Given the description of an element on the screen output the (x, y) to click on. 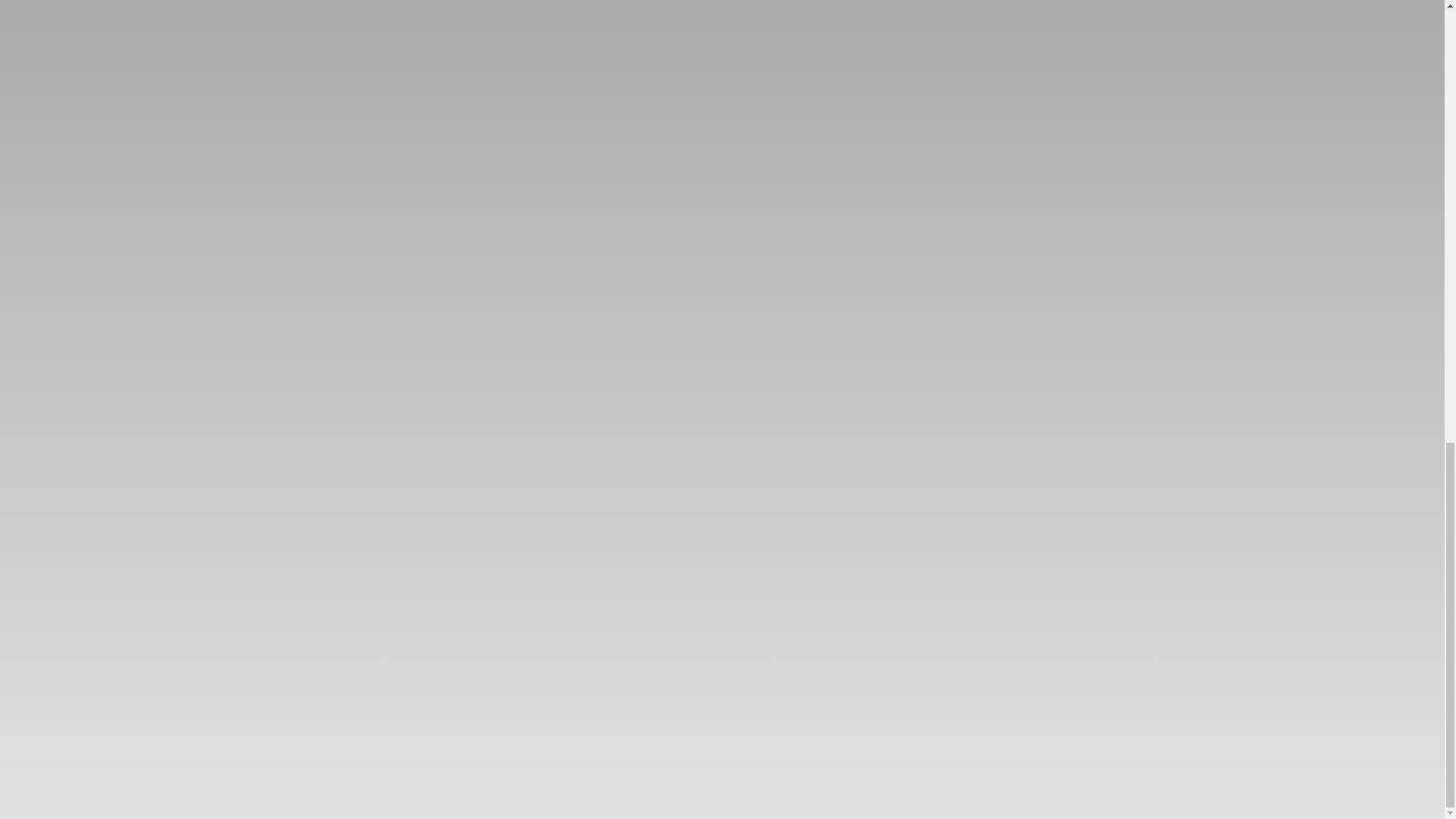
Jotenkaku Museum (1074, 689)
Ginkaku-ji (871, 689)
Kinkaku-ji (670, 689)
Shokoku-ji (468, 689)
